Given the description of an element on the screen output the (x, y) to click on. 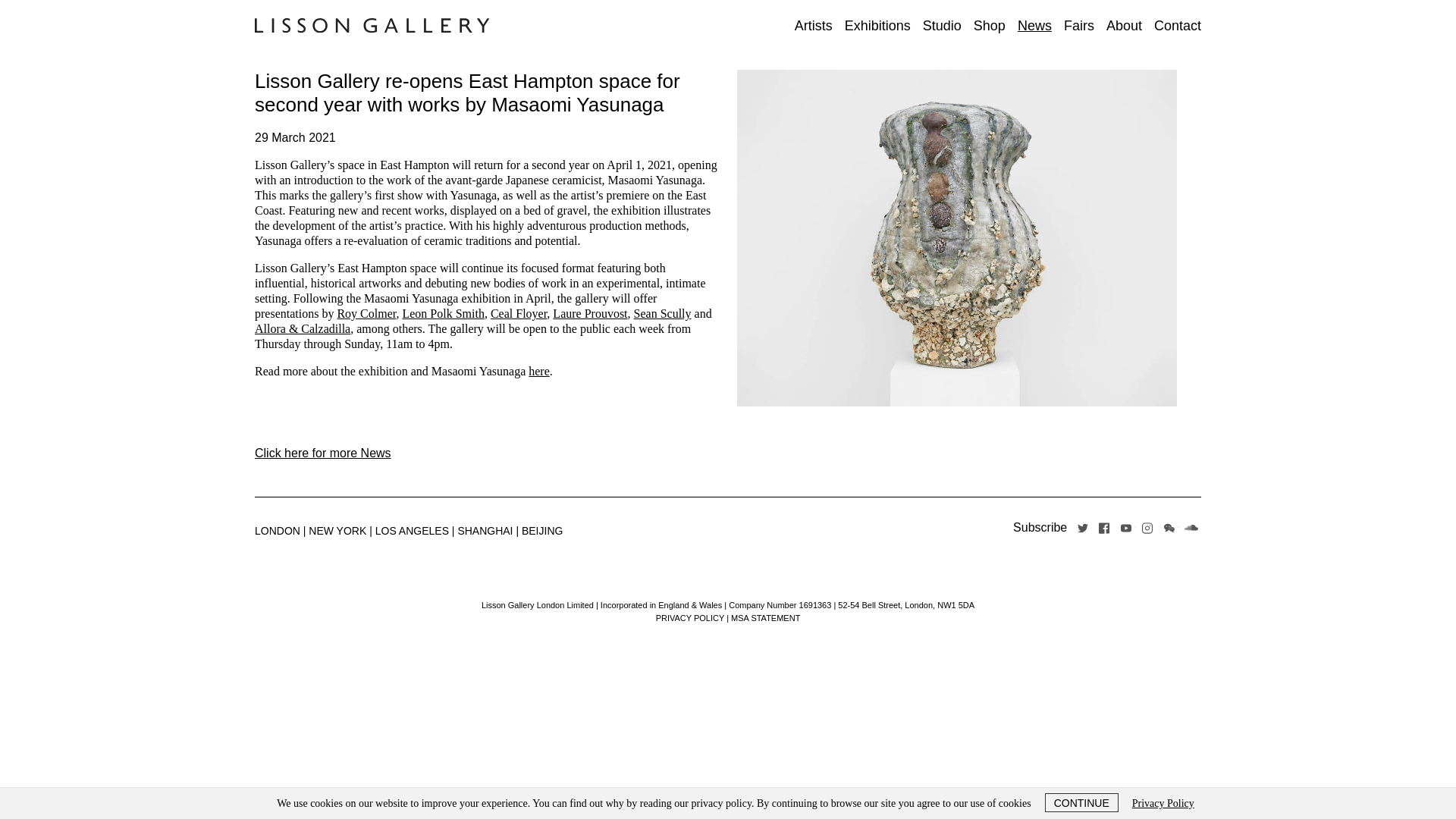
Leon Polk Smith (442, 313)
here (539, 370)
MSA STATEMENT (764, 617)
Studio (941, 25)
Artists (813, 25)
Laure Prouvost (590, 313)
Sean Scully (662, 313)
Roy Colmer (366, 313)
Ceal Floyer (518, 313)
Click here for more News (322, 452)
Exhibitions (877, 25)
PRIVACY POLICY (689, 617)
